Given the description of an element on the screen output the (x, y) to click on. 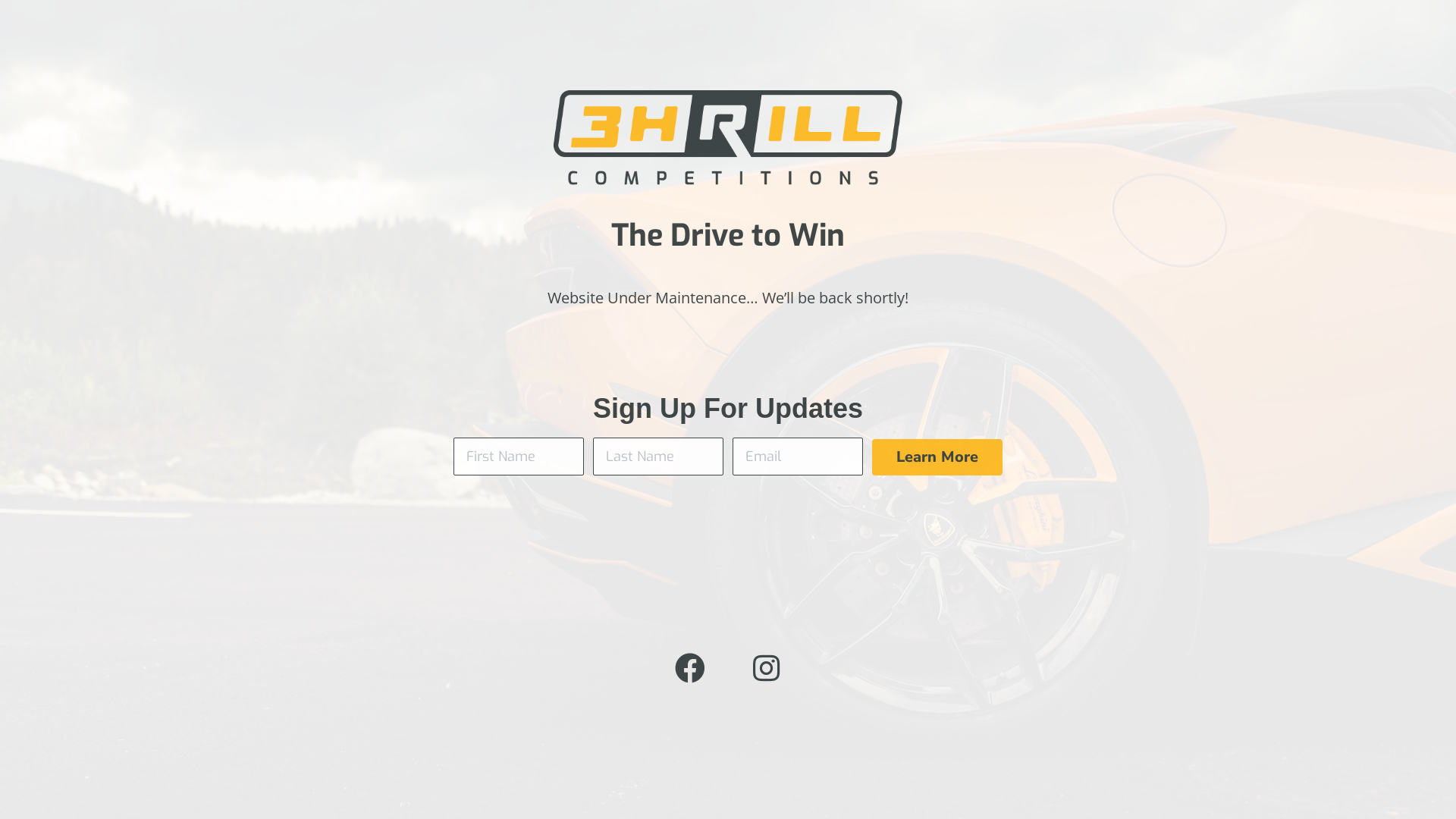
Learn More Element type: text (937, 457)
Submit Element type: text (26, 10)
